Given the description of an element on the screen output the (x, y) to click on. 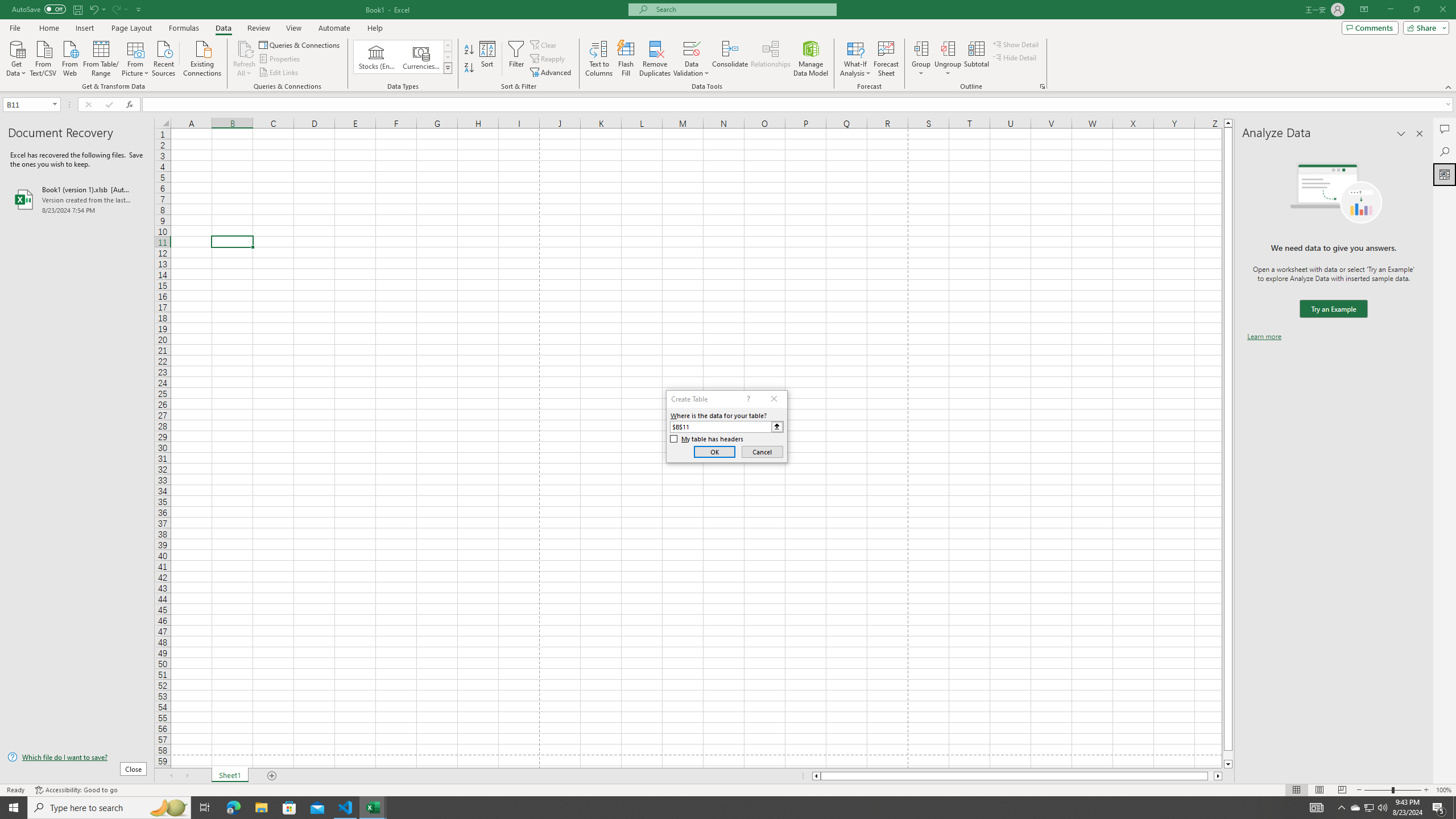
Get Data (16, 57)
Properties (280, 58)
Formula Bar (799, 104)
Edit Links (279, 72)
AutomationID: ConvertToLinkedEntity (403, 56)
Sort A to Z (469, 49)
Which file do I want to save? (77, 757)
